Given the description of an element on the screen output the (x, y) to click on. 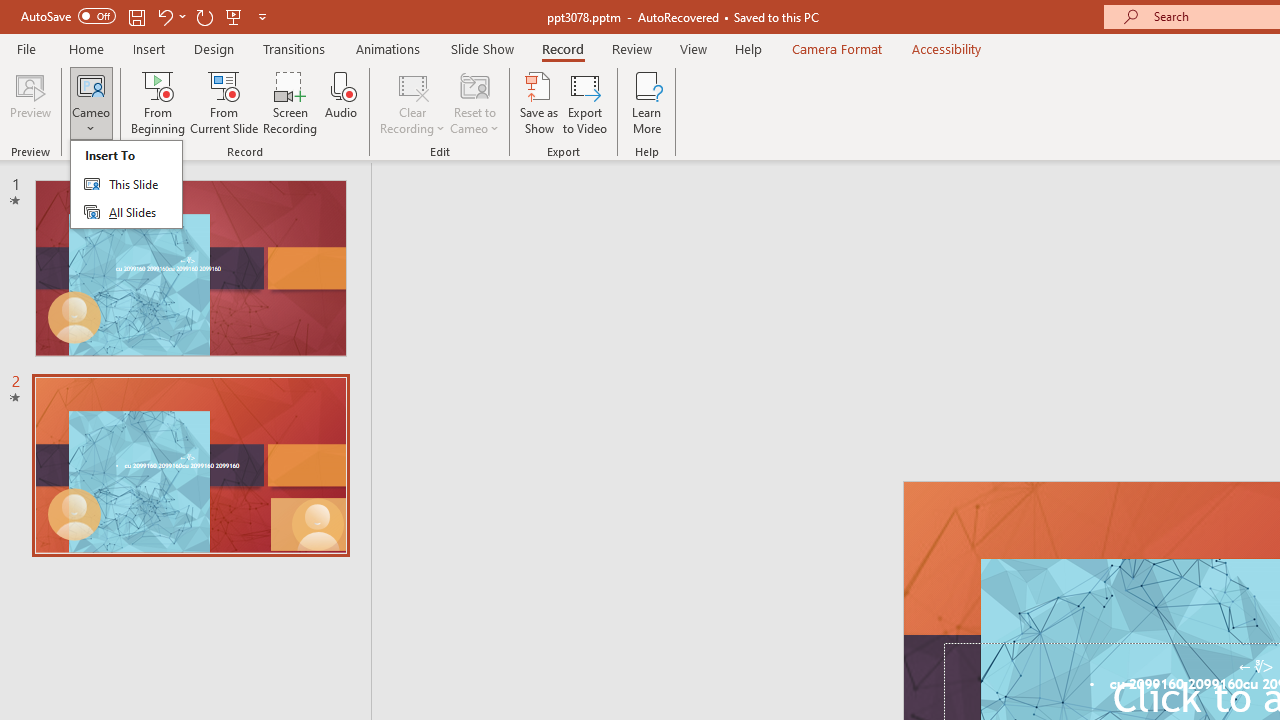
Learn More (646, 102)
Screen Recording (290, 102)
From Current Slide... (224, 102)
Save as Show (539, 102)
From Beginning... (158, 102)
Clear Recording (412, 102)
